Given the description of an element on the screen output the (x, y) to click on. 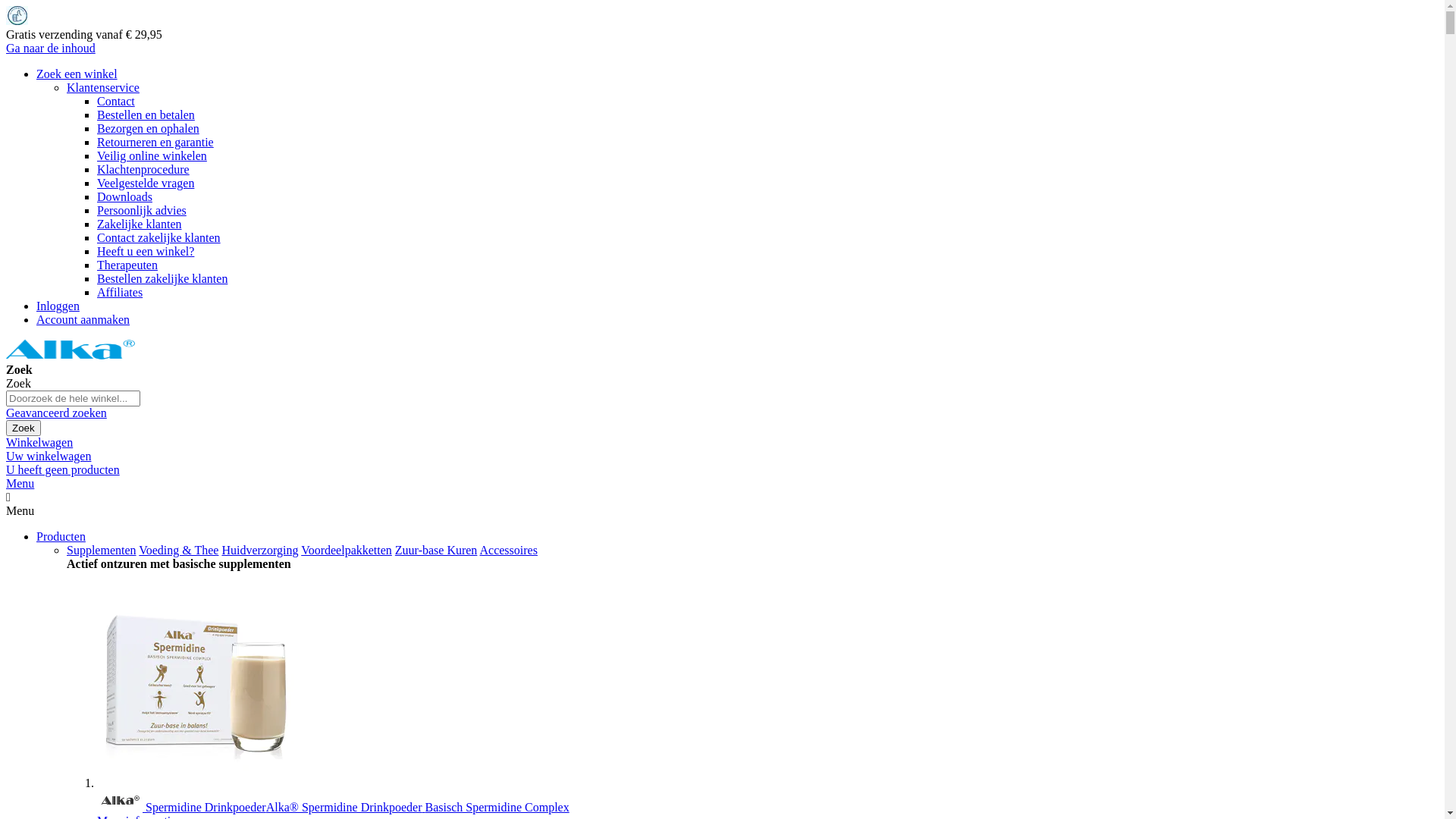
Winkelwagen
Uw winkelwagen
U heeft geen producten Element type: text (722, 456)
Ga naar de inhoud Element type: text (50, 47)
Huidverzorging Element type: text (259, 549)
Heeft u een winkel? Element type: text (145, 250)
Veelgestelde vragen Element type: text (145, 182)
Supplementen Element type: text (101, 549)
Voeding & Thee Element type: text (178, 549)
Klantenservice Element type: text (102, 87)
Zoek een winkel Element type: text (76, 73)
Accessoires Element type: text (507, 549)
Bezorgen en ophalen Element type: text (148, 128)
Alka | AlkaVitae Element type: hover (70, 355)
Klachtenprocedure Element type: text (143, 169)
Zoek Element type: text (23, 428)
Bestellen zakelijke klanten Element type: text (162, 278)
Retourneren en garantie Element type: text (155, 141)
Veilig online winkelen Element type: text (152, 155)
Account aanmaken Element type: text (82, 319)
Alka | AlkaVitae Element type: hover (70, 349)
Therapeuten Element type: text (127, 264)
Geavanceerd zoeken Element type: text (56, 412)
Producten Element type: text (60, 536)
Contact zakelijke klanten Element type: text (158, 237)
Zuur-base Kuren Element type: text (436, 549)
Inloggen Element type: text (57, 305)
Contact Element type: text (115, 100)
Persoonlijk advies Element type: text (141, 209)
Downloads Element type: text (124, 196)
Zakelijke klanten Element type: text (139, 223)
Menu Element type: text (20, 482)
Bestellen en betalen Element type: text (145, 114)
Affiliates Element type: text (119, 291)
Voordeelpakketten Element type: text (346, 549)
